Given the description of an element on the screen output the (x, y) to click on. 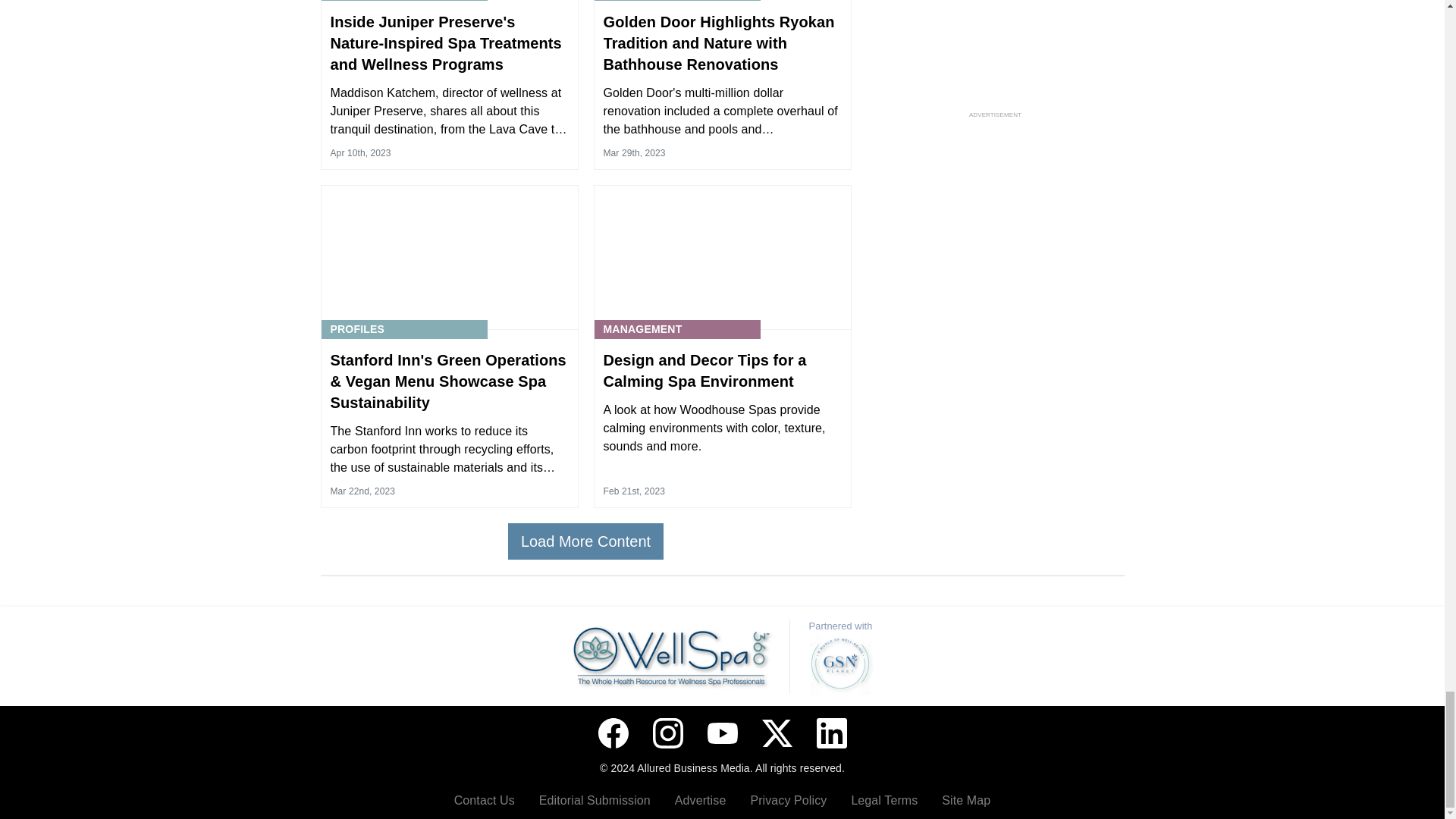
YouTube icon (721, 733)
Facebook icon (611, 733)
Twitter X icon (776, 733)
Instagram icon (667, 733)
